Given the description of an element on the screen output the (x, y) to click on. 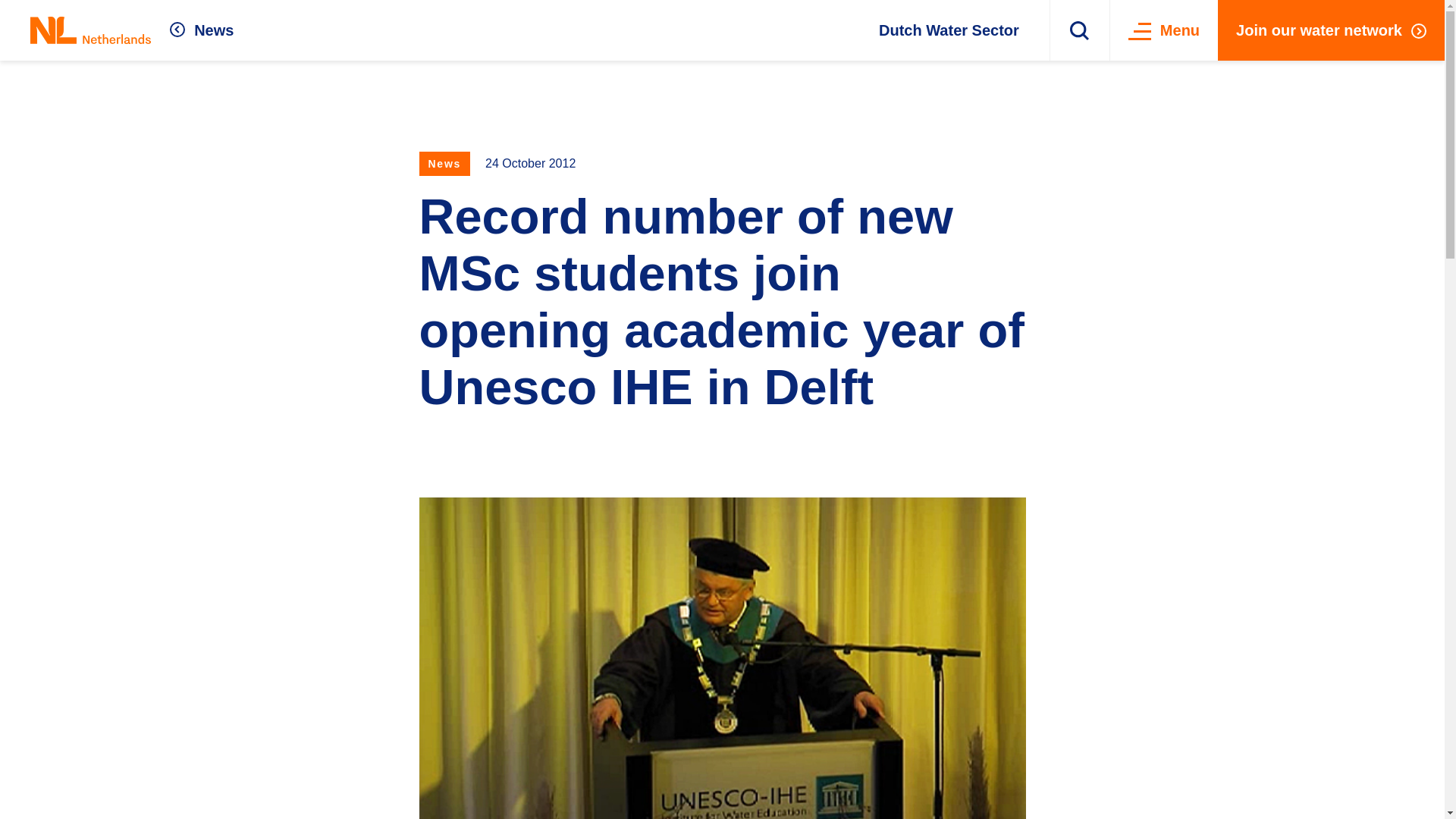
Dutch Water Sector (949, 30)
News (201, 30)
